Given the description of an element on the screen output the (x, y) to click on. 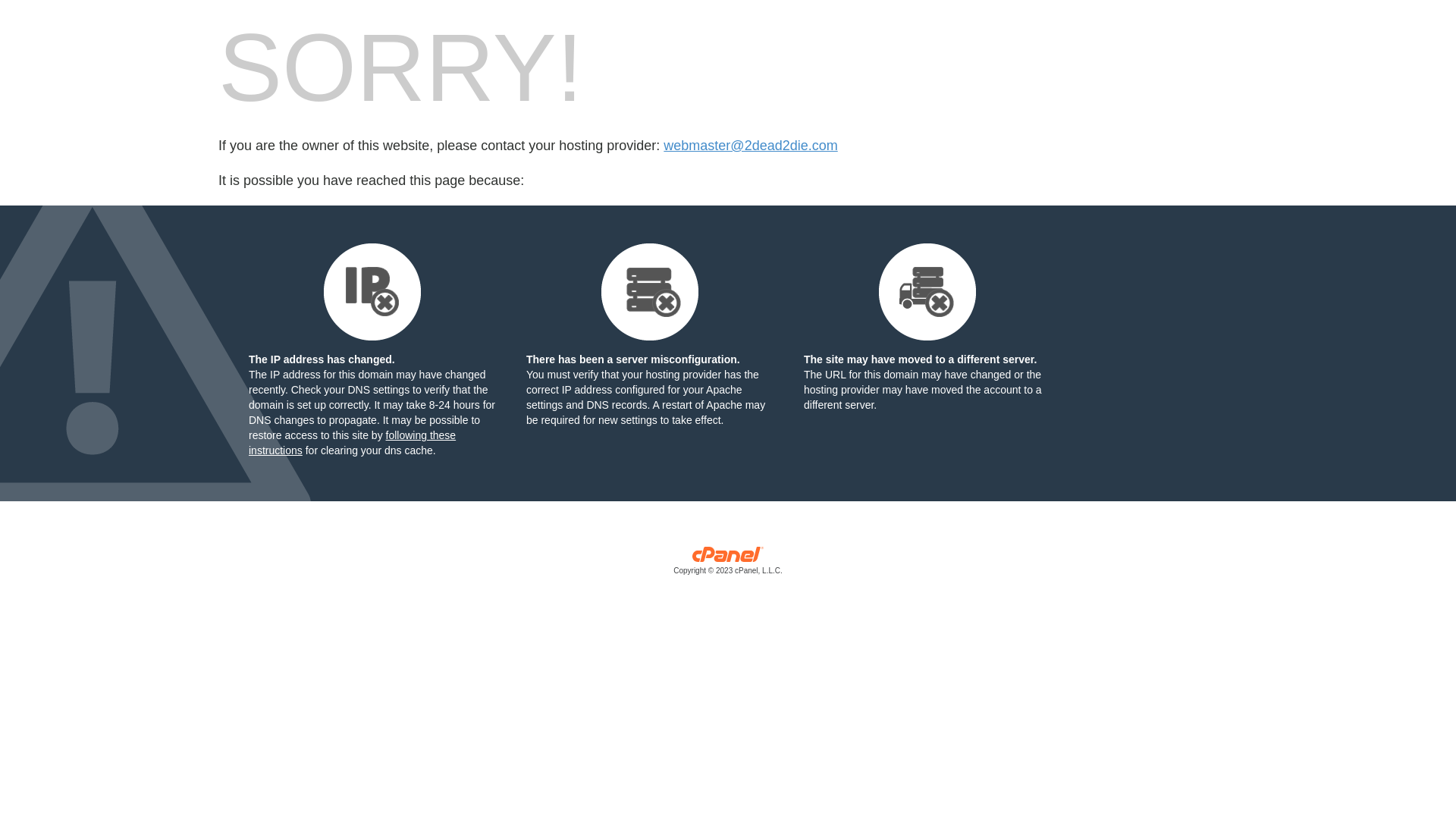
following these instructions Element type: text (351, 442)
webmaster@2dead2die.com Element type: text (750, 145)
